Given the description of an element on the screen output the (x, y) to click on. 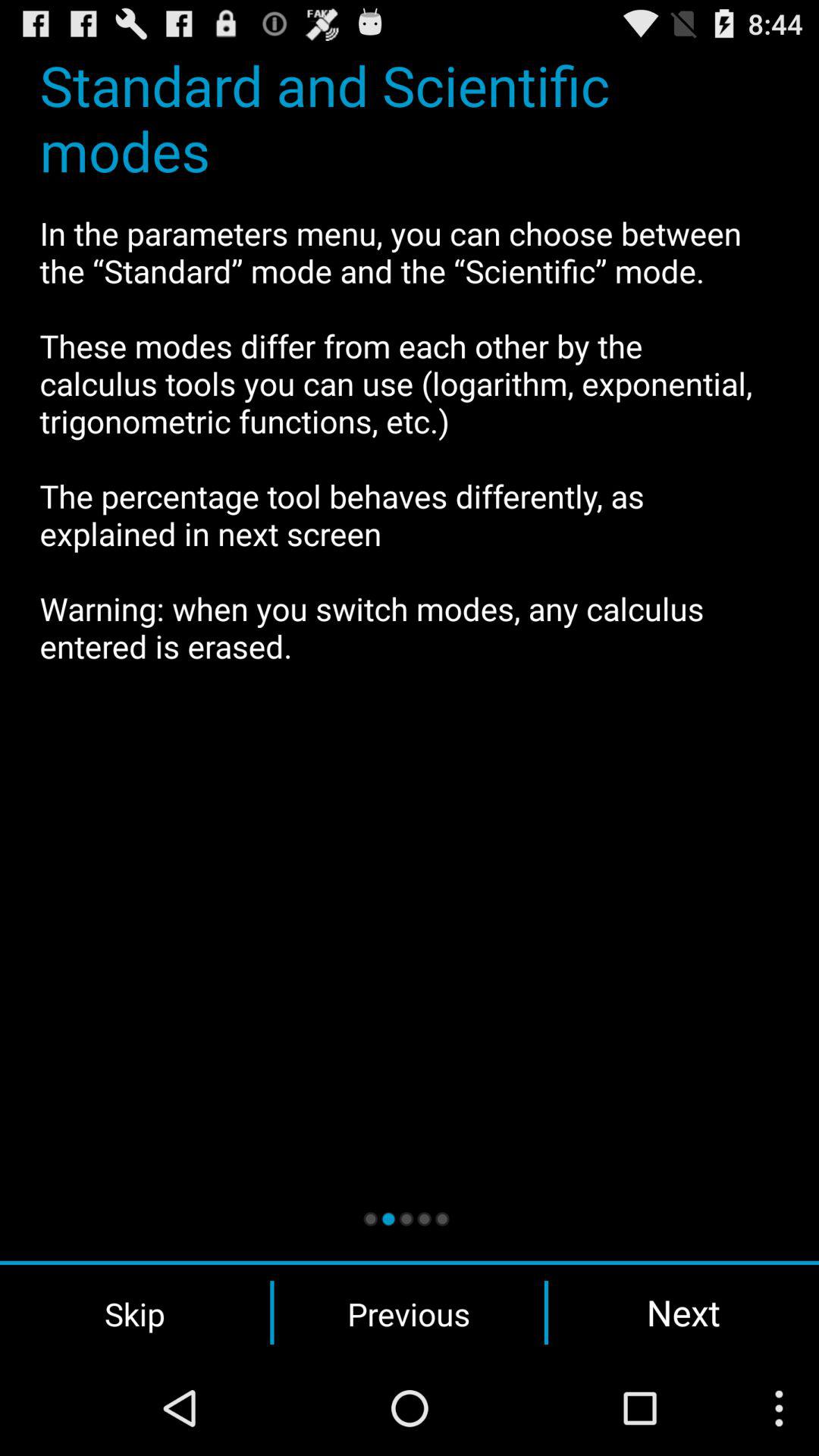
choose the skip button (135, 1313)
